Given the description of an element on the screen output the (x, y) to click on. 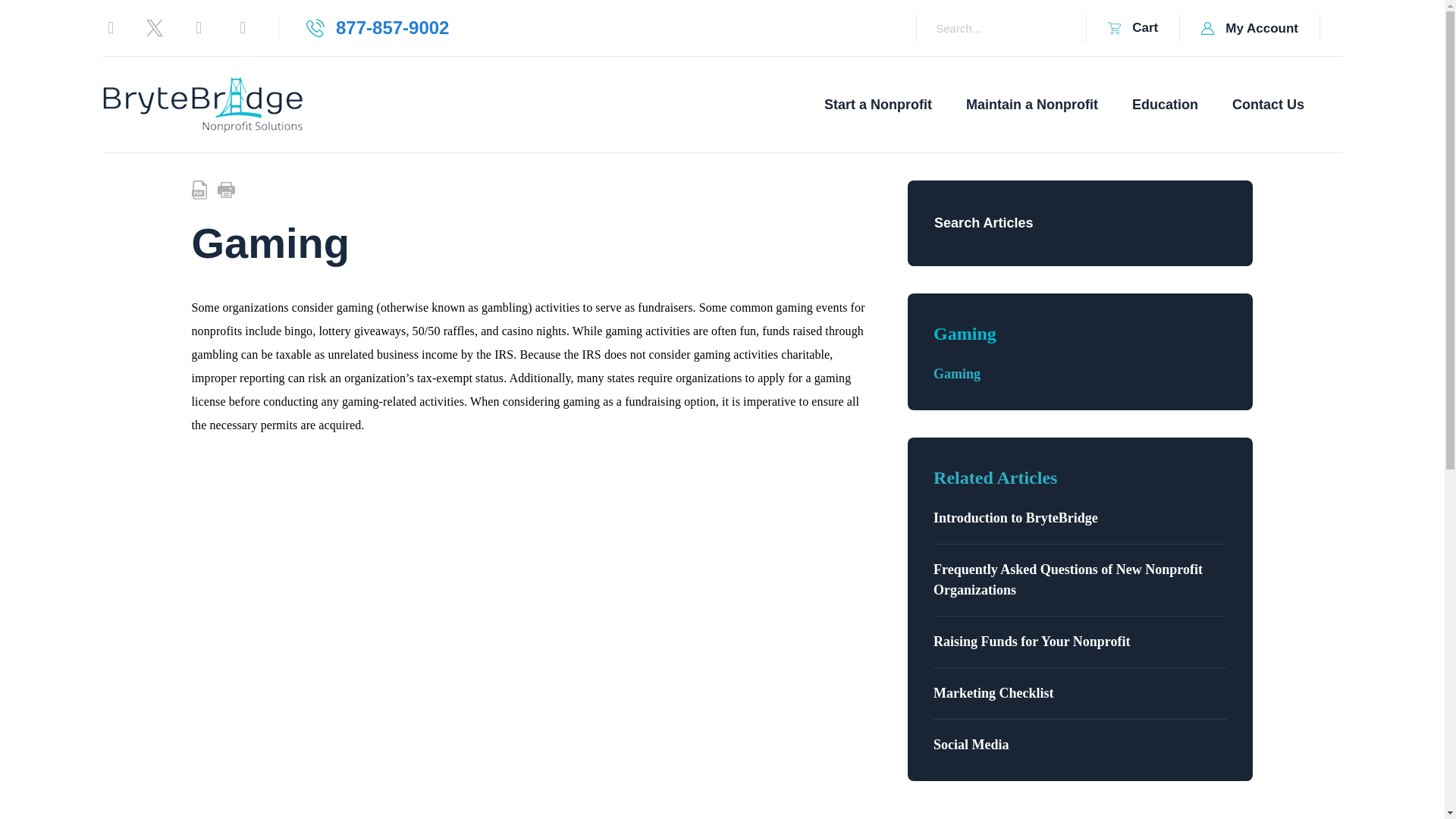
My Account (1249, 28)
877-857-9002 (376, 27)
Contact Us (880, 104)
Cart (1167, 104)
Search (1267, 104)
